Given the description of an element on the screen output the (x, y) to click on. 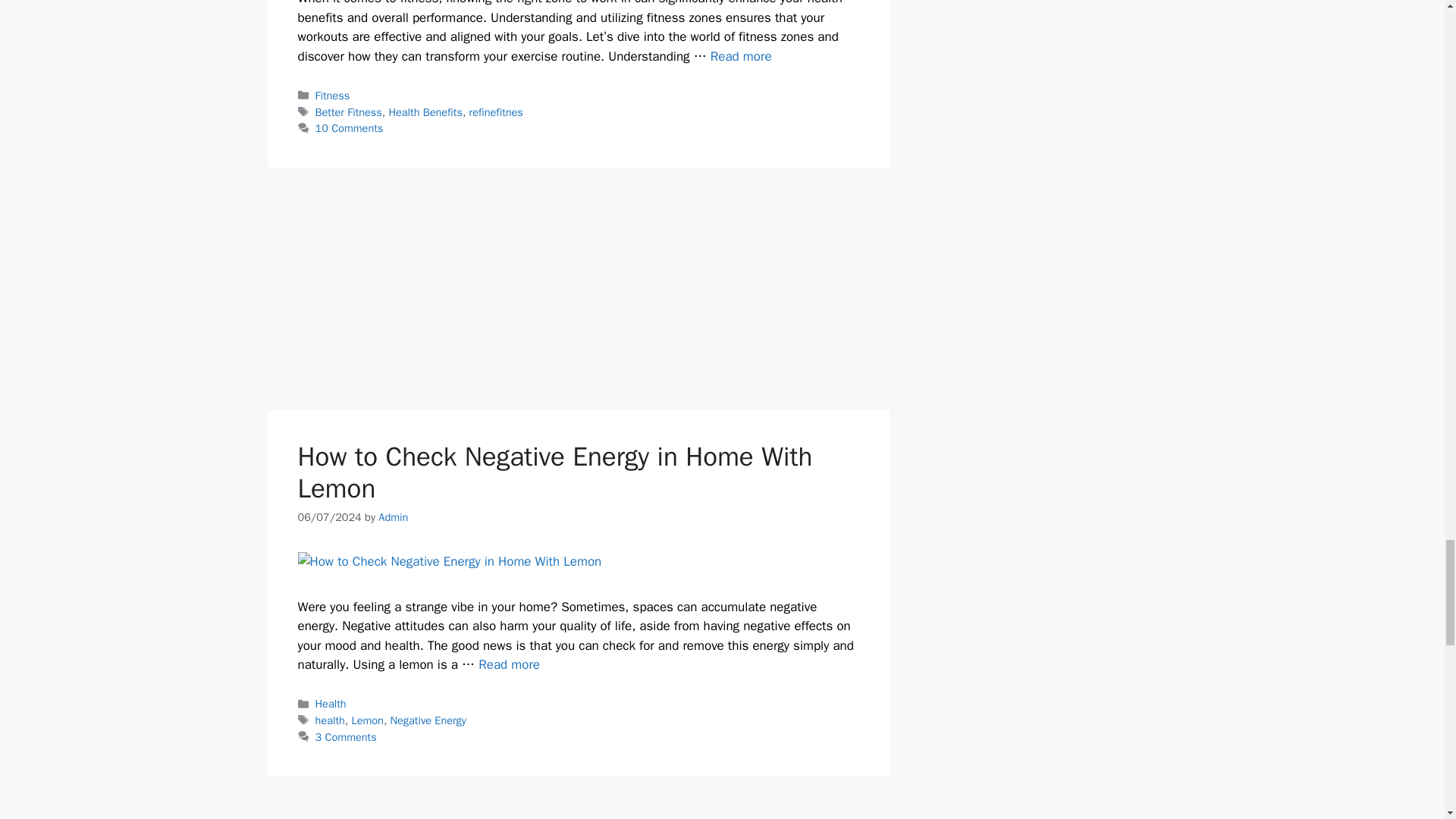
View all posts by Admin (392, 517)
How to Check Negative Energy in Home With Lemon (509, 664)
